Given the description of an element on the screen output the (x, y) to click on. 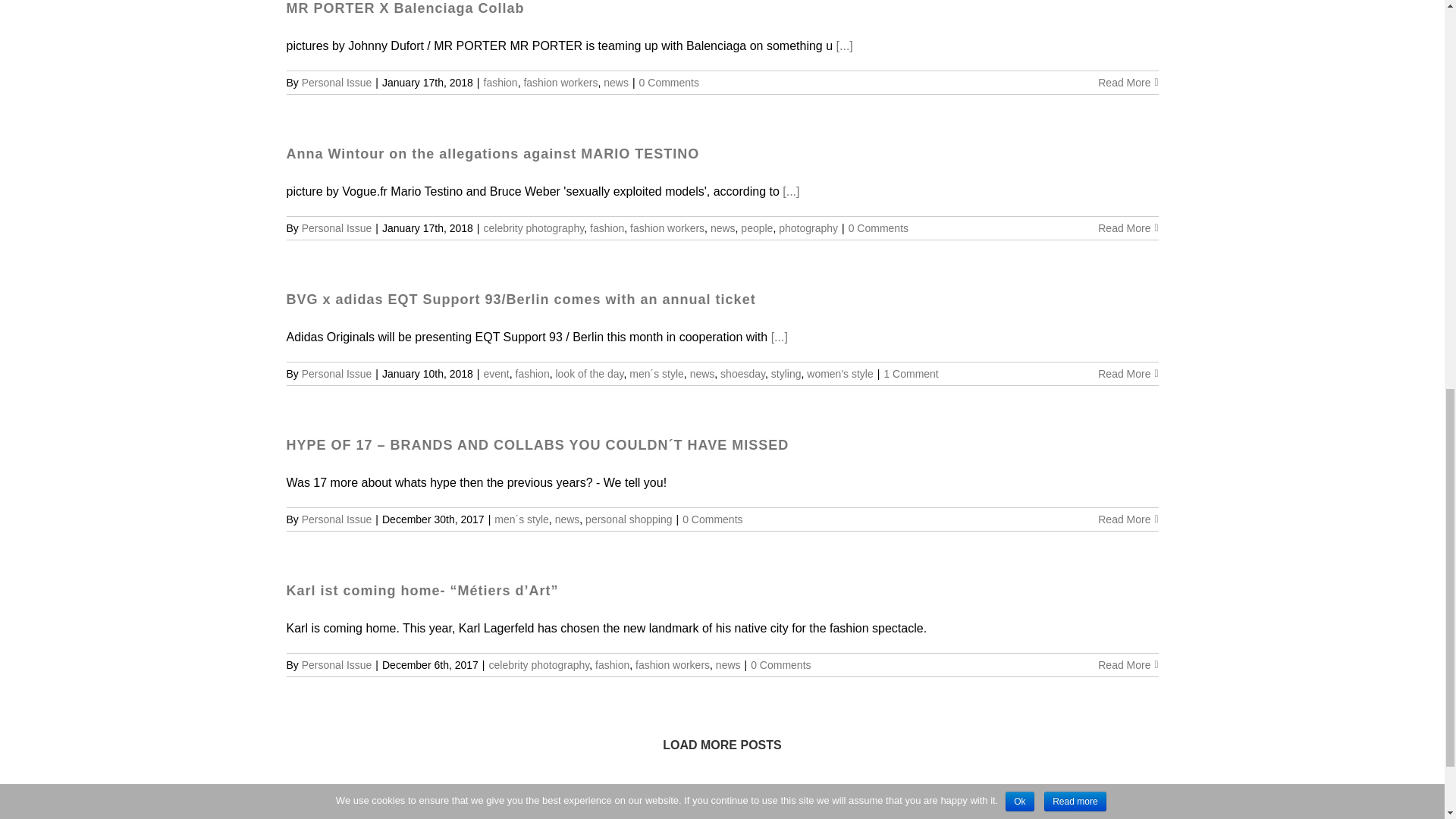
Posts by Personal Issue (336, 373)
Posts by Personal Issue (336, 82)
Posts by Personal Issue (336, 519)
Posts by Personal Issue (336, 664)
Posts by Personal Issue (336, 227)
